Given the description of an element on the screen output the (x, y) to click on. 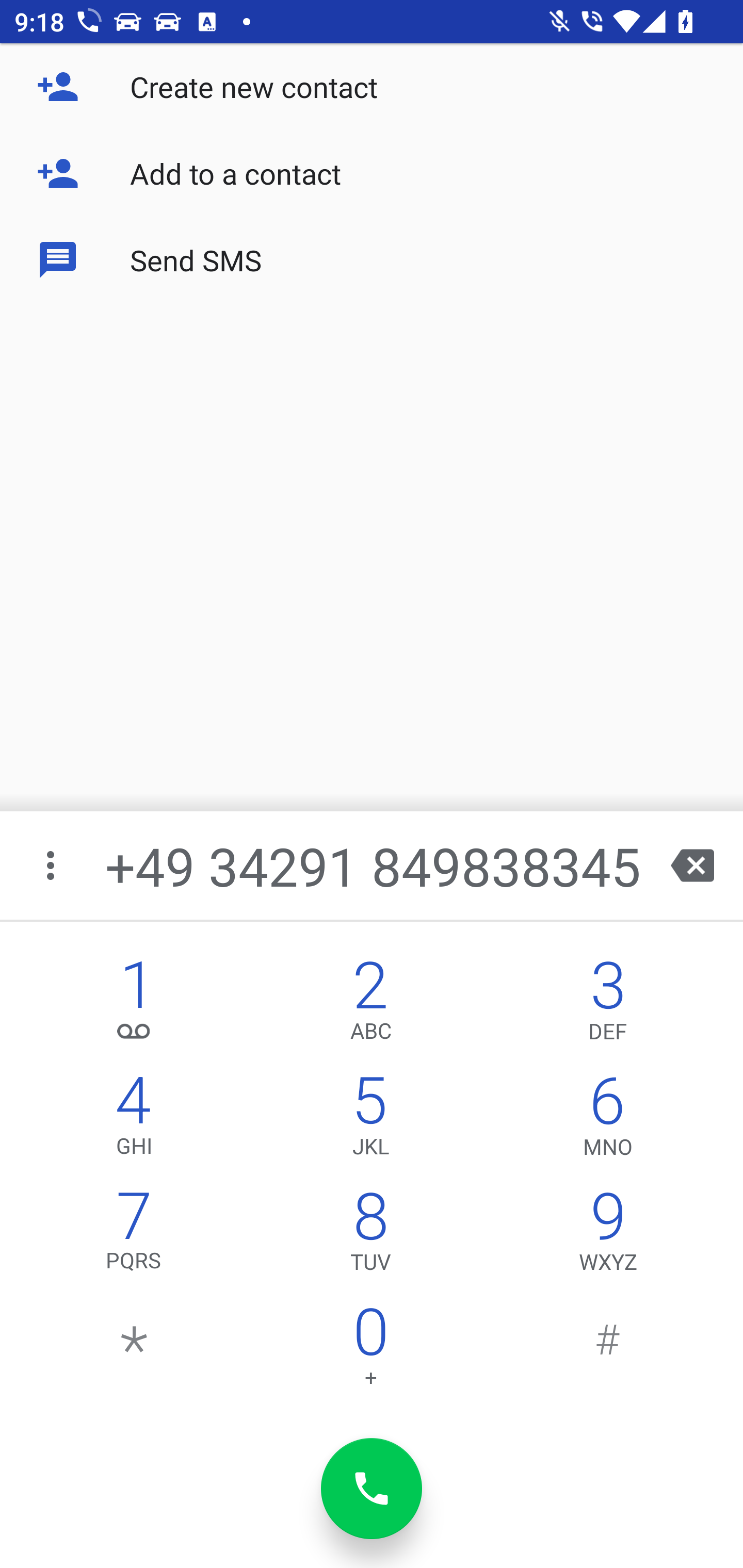
Create new contact (371, 86)
Add to a contact (371, 173)
Send SMS (371, 259)
+49 34291 849838345 (372, 865)
backspace (692, 865)
More options (52, 865)
1, 1 (133, 1005)
2,ABC 2 ABC (370, 1005)
3,DEF 3 DEF (607, 1005)
4,GHI 4 GHI (133, 1120)
5,JKL 5 JKL (370, 1120)
6,MNO 6 MNO (607, 1120)
7,PQRS 7 PQRS (133, 1235)
8,TUV 8 TUV (370, 1235)
9,WXYZ 9 WXYZ (607, 1235)
* (133, 1351)
0 0 + (370, 1351)
# (607, 1351)
dial (371, 1488)
